Given the description of an element on the screen output the (x, y) to click on. 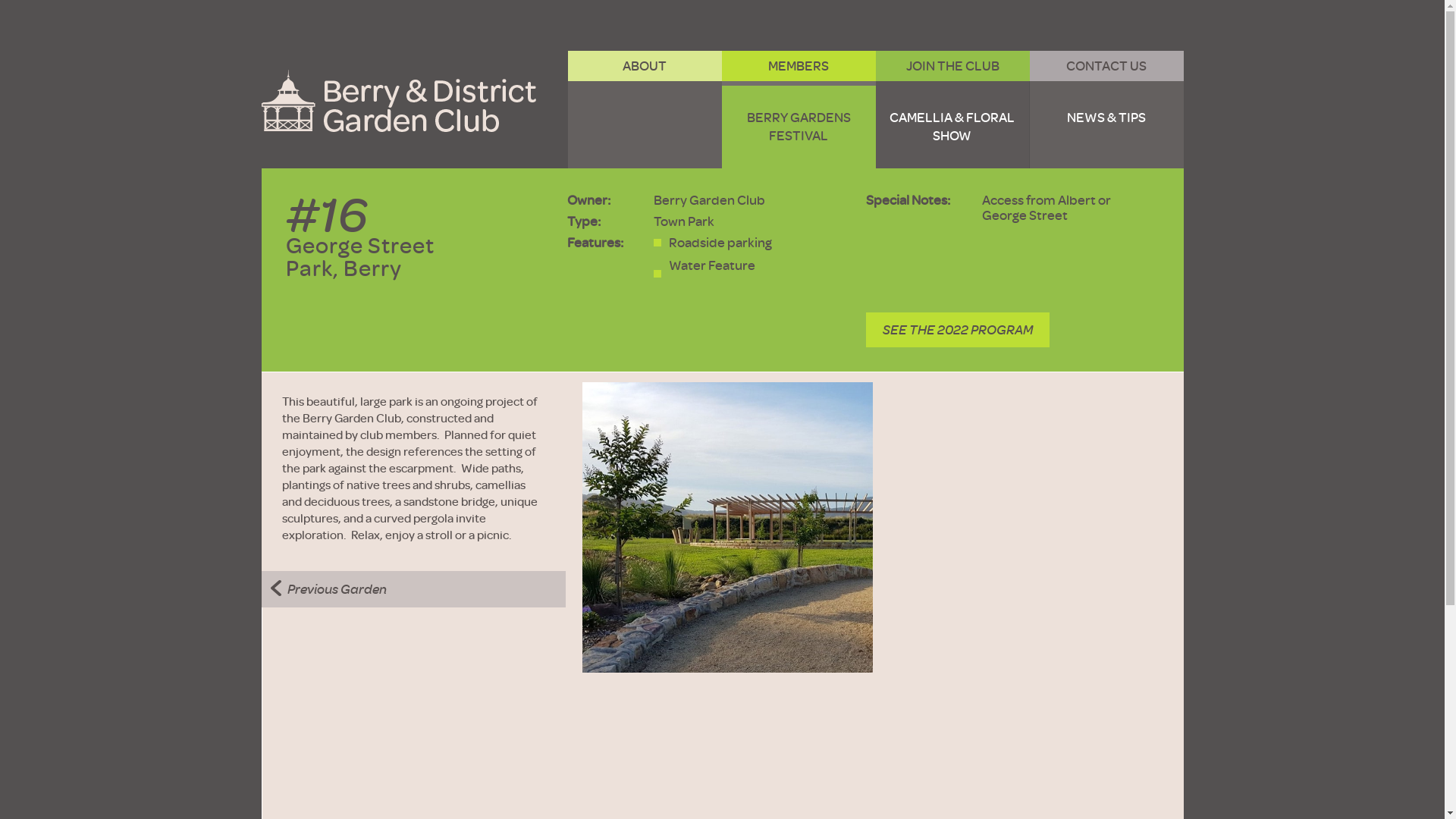
SEE THE 2022 PROGRAM Element type: text (957, 329)
Previous Garden Element type: text (327, 589)
MEMBERS Element type: text (798, 65)
JOIN THE CLUB Element type: text (952, 65)
NEWS & TIPS Element type: text (1106, 126)
BERRY GARDENS FESTIVAL Element type: text (798, 126)
CONTACT US Element type: text (1106, 65)
Berry & District Garden Club Element type: hover (397, 100)
ABOUT Element type: text (644, 65)
CAMELLIA & FLORAL SHOW Element type: text (952, 126)
